Given the description of an element on the screen output the (x, y) to click on. 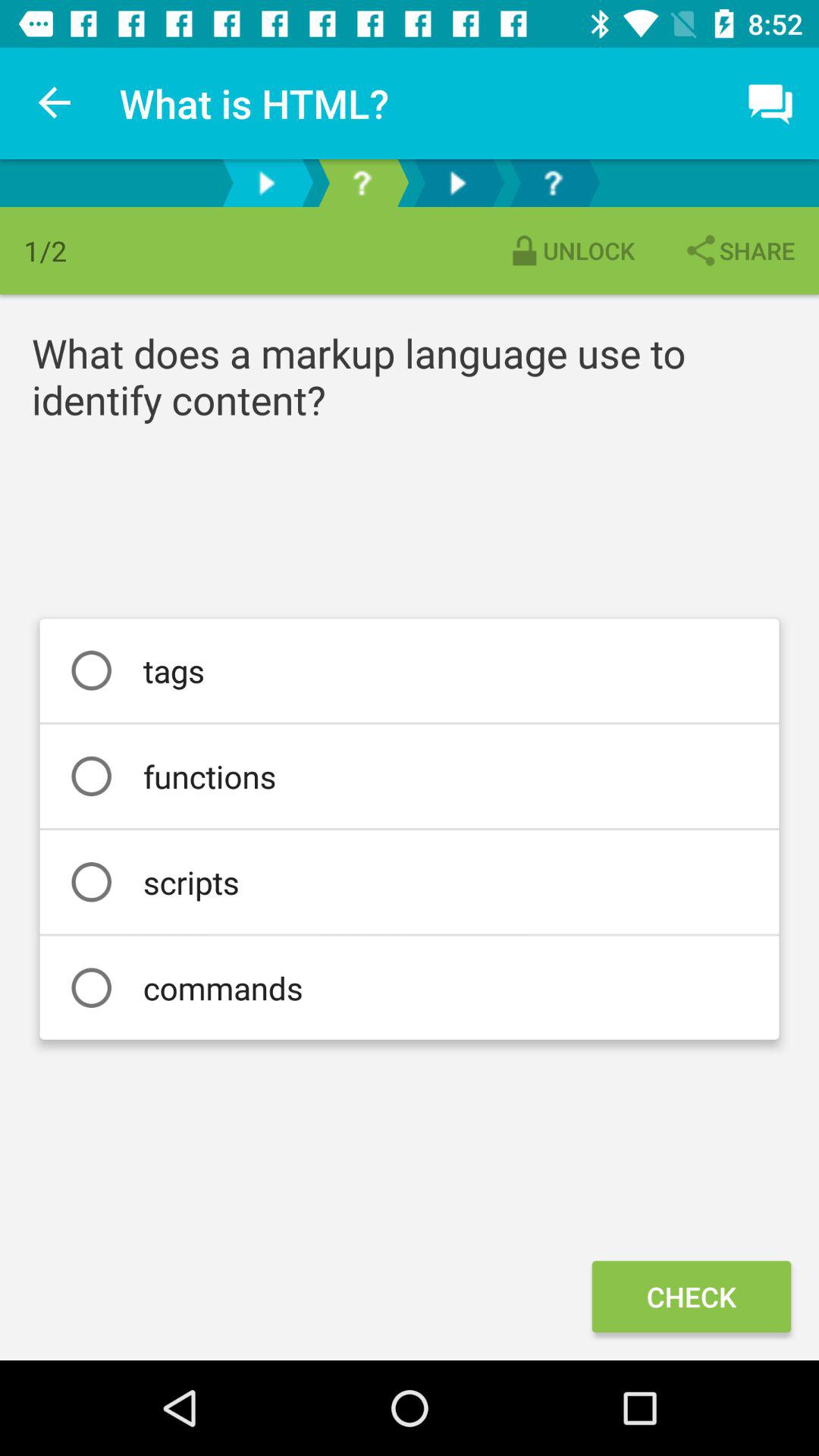
go to second question (552, 183)
